Given the description of an element on the screen output the (x, y) to click on. 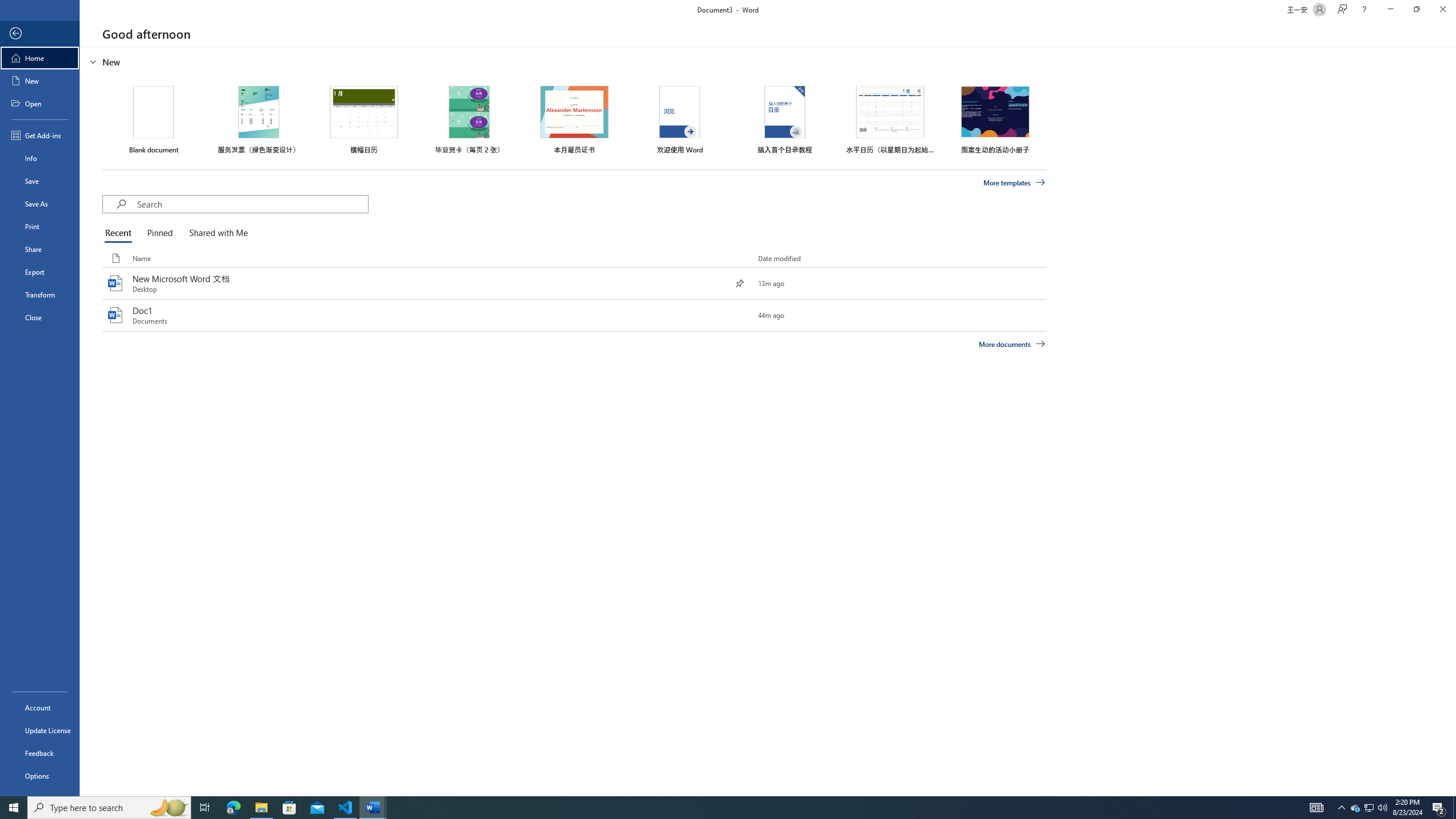
More documents (1011, 343)
New (40, 80)
Shared with Me (215, 233)
Recent (119, 233)
Open (40, 102)
Pinned (159, 233)
More templates (1014, 182)
Print (40, 225)
